Given the description of an element on the screen output the (x, y) to click on. 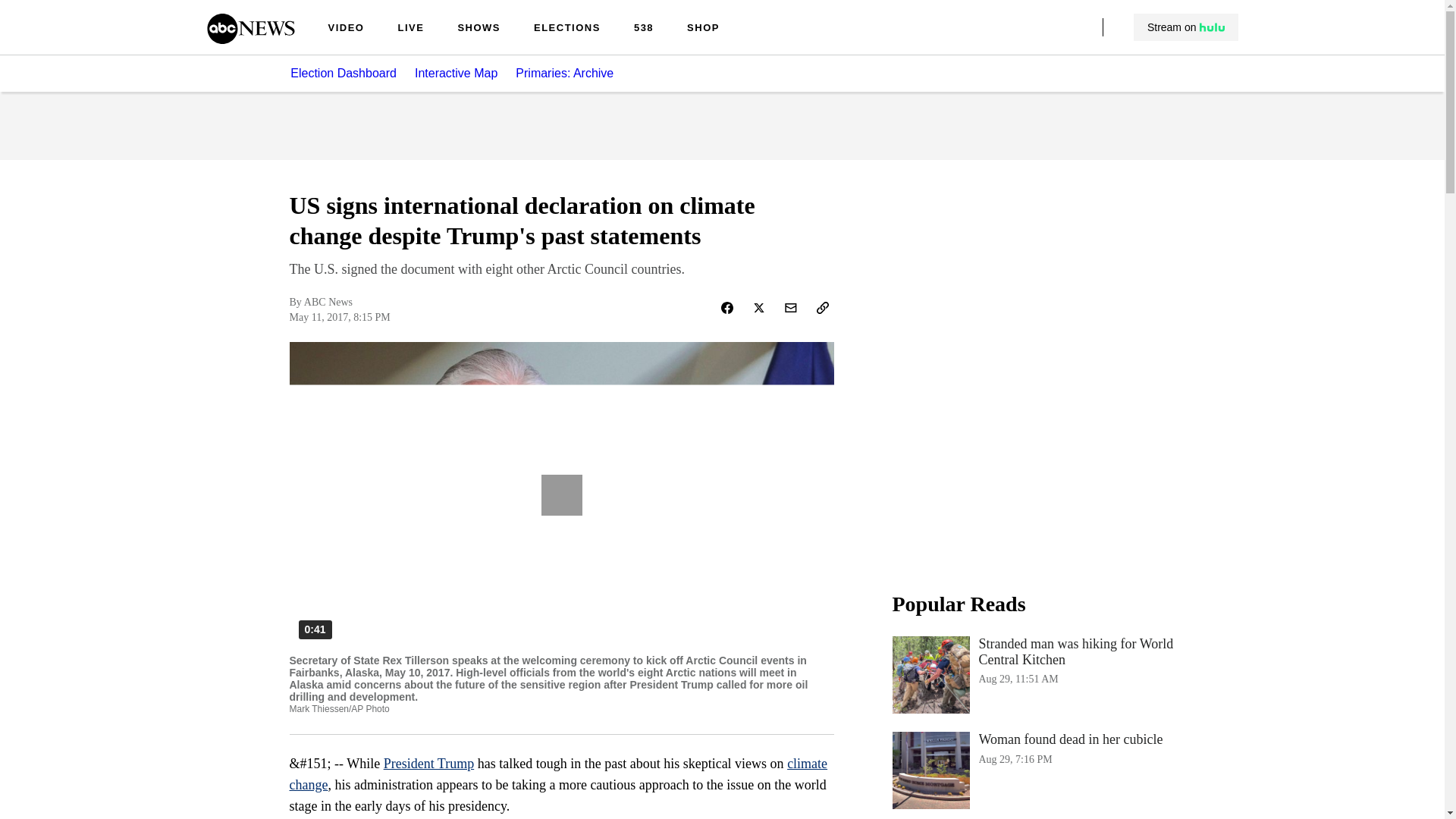
Stream on (1043, 770)
LIVE (1185, 27)
ELECTIONS (410, 28)
SHOWS (566, 28)
climate change (478, 28)
ABC News (558, 773)
VIDEO (250, 38)
Stream on (345, 28)
